Given the description of an element on the screen output the (x, y) to click on. 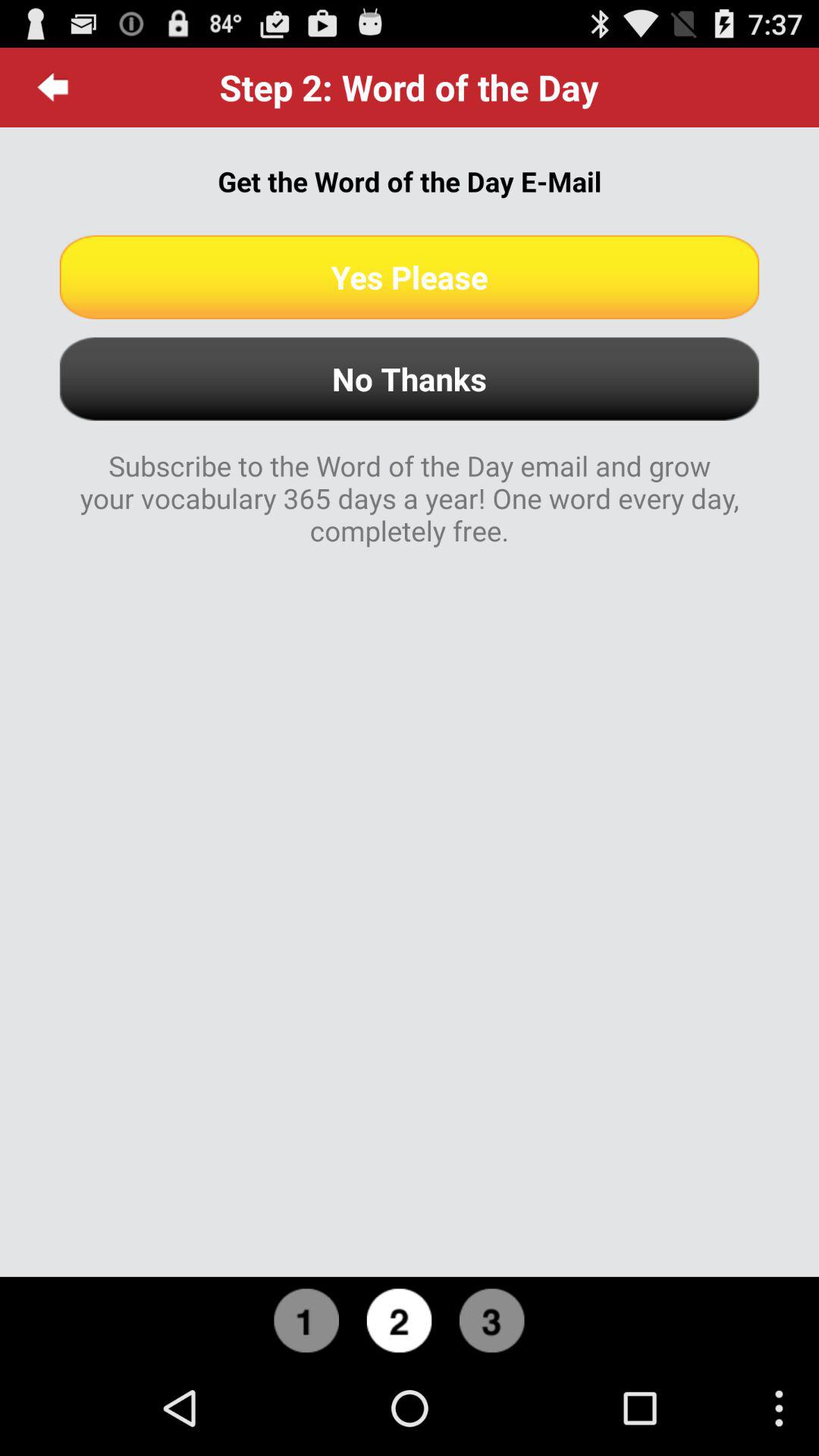
tap icon at the top left corner (53, 87)
